Given the description of an element on the screen output the (x, y) to click on. 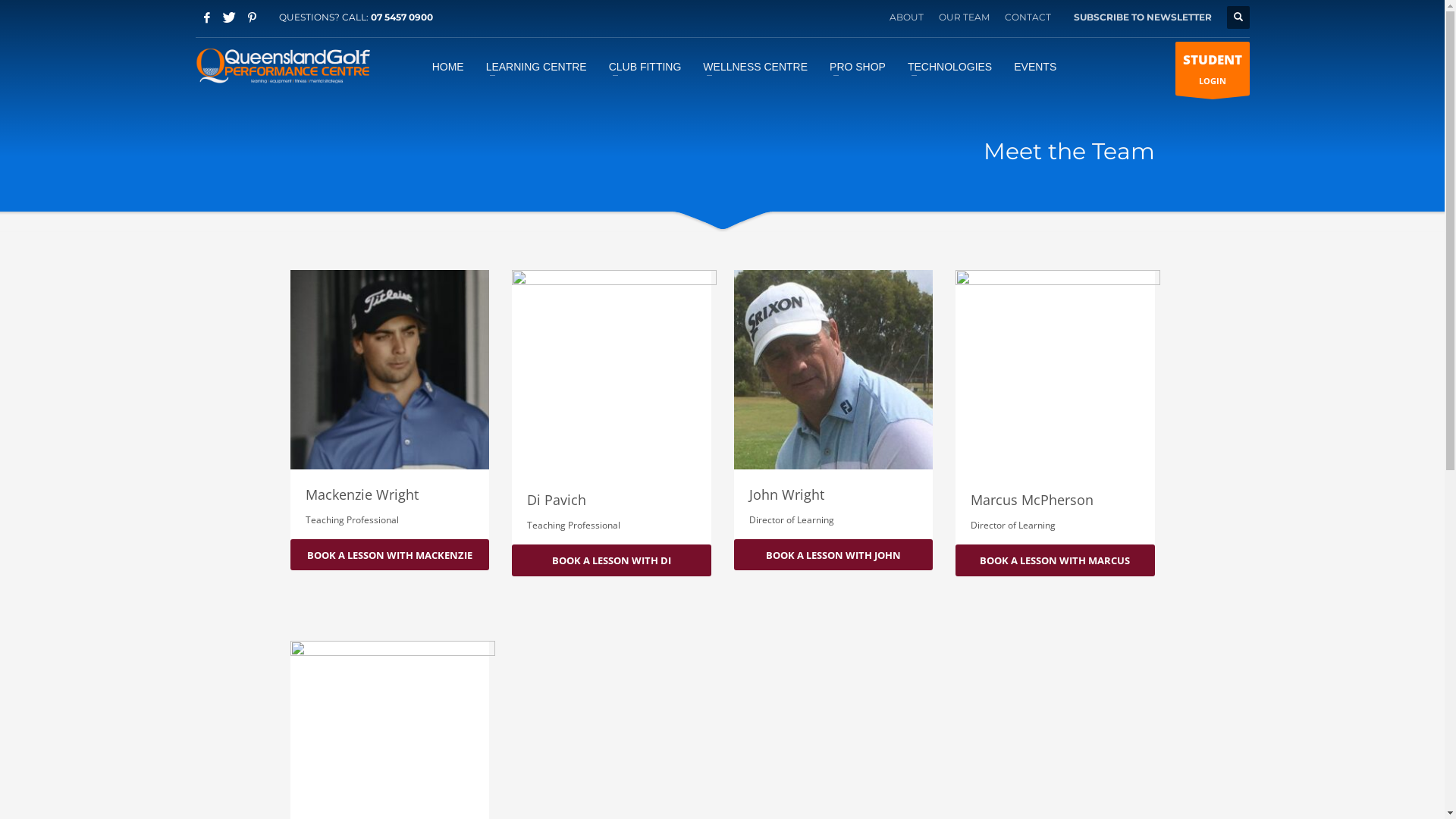
Pinterest Element type: hover (252, 17)
WELLNESS CENTRE Element type: text (754, 65)
Learning, Equipment, Fitness, Mental Strategies Element type: hover (283, 65)
BOOK A LESSON WITH MACKENZIE Element type: text (389, 554)
Mackenzie Wright
Teaching Professional Element type: text (389, 404)
EVENTS Element type: text (1034, 65)
07 5457 0900 Element type: text (401, 16)
ABOUT Element type: text (905, 17)
Marcus McPherson
Director of Learning Element type: text (1054, 406)
BOOK A LESSON WITH JOHN Element type: text (833, 554)
Twitter Element type: hover (229, 17)
CLUB FITTING Element type: text (644, 65)
SUBSCRIBE TO NEWSLETTER Element type: text (1142, 17)
TECHNOLOGIES Element type: text (949, 65)
Send Element type: text (722, 299)
CONTACT Element type: text (1027, 17)
John Wright
Director of Learning Element type: text (833, 404)
STUDENT
LOGIN Element type: text (1212, 67)
PRO SHOP Element type: text (857, 65)
Facebook Element type: hover (206, 17)
LEARNING CENTRE Element type: text (536, 65)
HOME Element type: text (448, 65)
BOOK A LESSON WITH DI Element type: text (611, 560)
OUR TEAM Element type: text (963, 17)
Di Pavich
Teaching Professional Element type: text (611, 406)
BOOK A LESSON WITH MARCUS Element type: text (1054, 560)
